Given the description of an element on the screen output the (x, y) to click on. 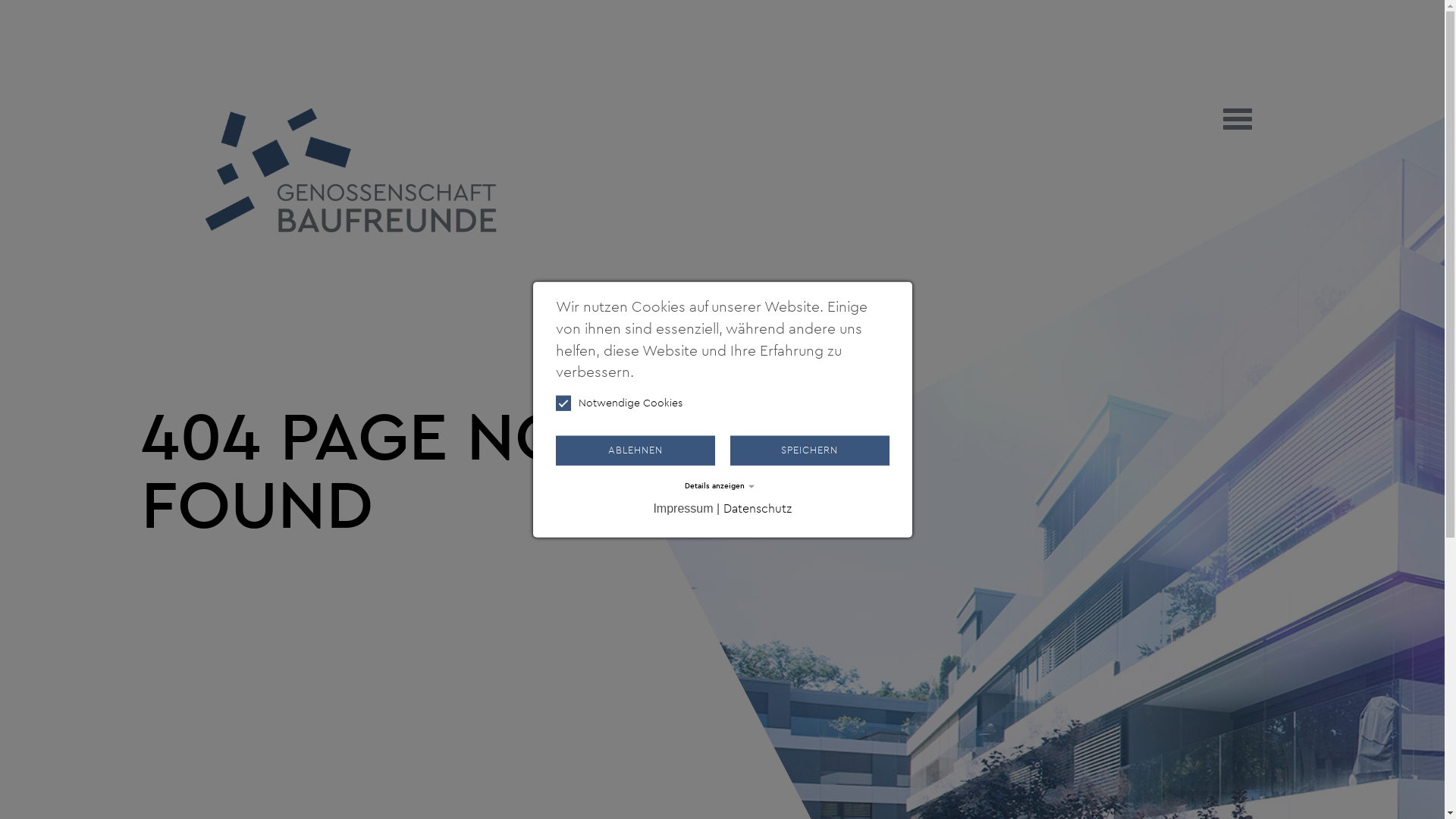
SPEICHERN Element type: text (808, 450)
Datenschutz Element type: text (757, 508)
ABLEHNEN Element type: text (634, 450)
Details anzeigen Element type: text (721, 486)
Toggle navigation Element type: text (1237, 118)
Genossenschaft Baufreunde - Logo Element type: hover (350, 169)
